Given the description of an element on the screen output the (x, y) to click on. 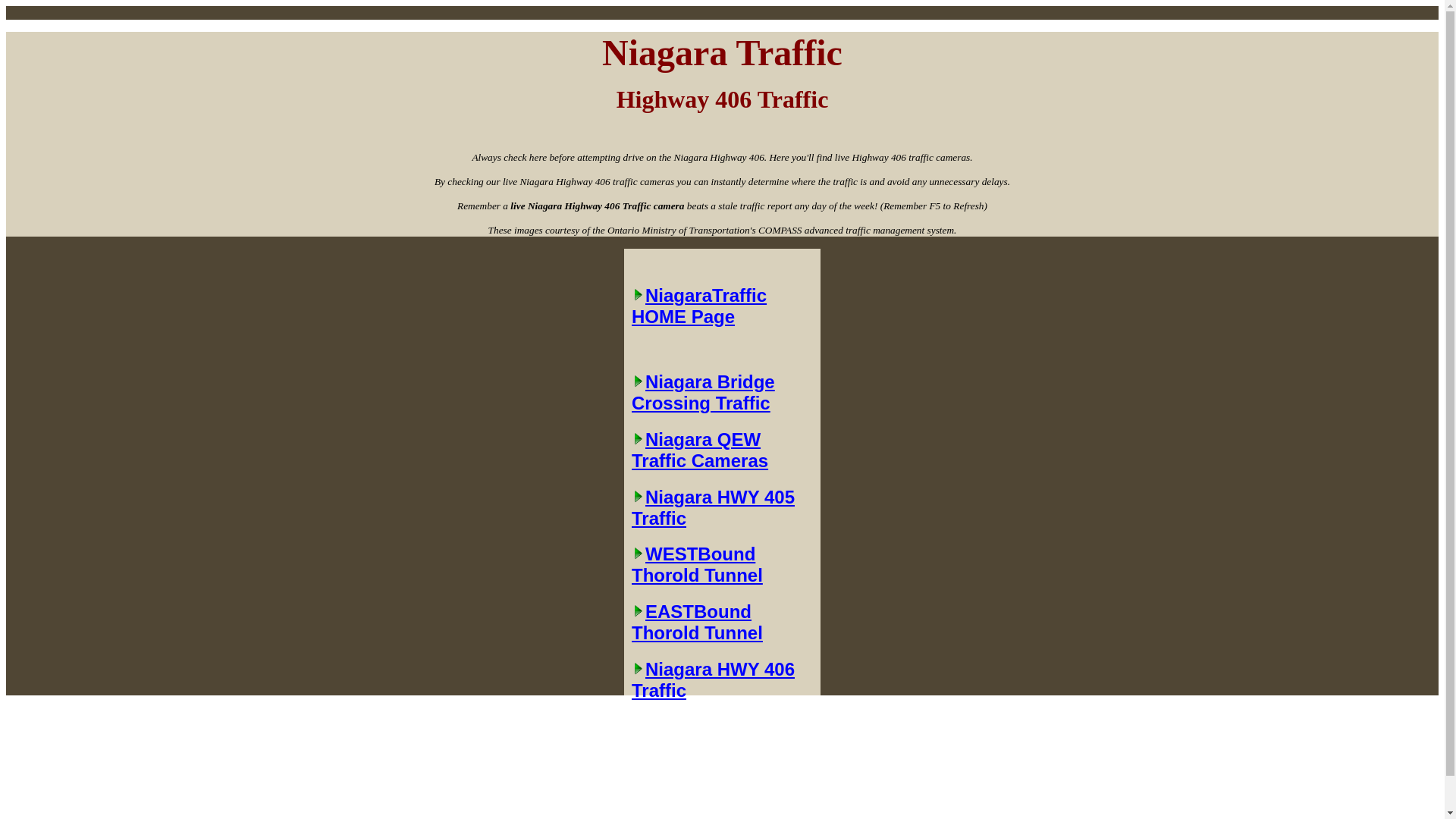
Niagara QEW Traffic Cameras (721, 450)
EASTBound Thorold Tunnel (721, 622)
Live Niagara EASTBound Thorold Tunnel (721, 622)
Niagara Bridge Crossing Traffic (721, 392)
WESTBound Thorold Tunnel (721, 564)
Niagara HWY 405 Traffic (721, 507)
NiagaraTraffic HOME Page (721, 320)
Live Niagara HWY 405 Traffic (721, 507)
Niagara Traffic Cameras Bridge Traffic (721, 392)
Live Niagara QEW Traffic (721, 450)
NiagaraTraffic Home Page (721, 320)
Live Niagara WESTBound Thorold Tunnel (721, 564)
